Given the description of an element on the screen output the (x, y) to click on. 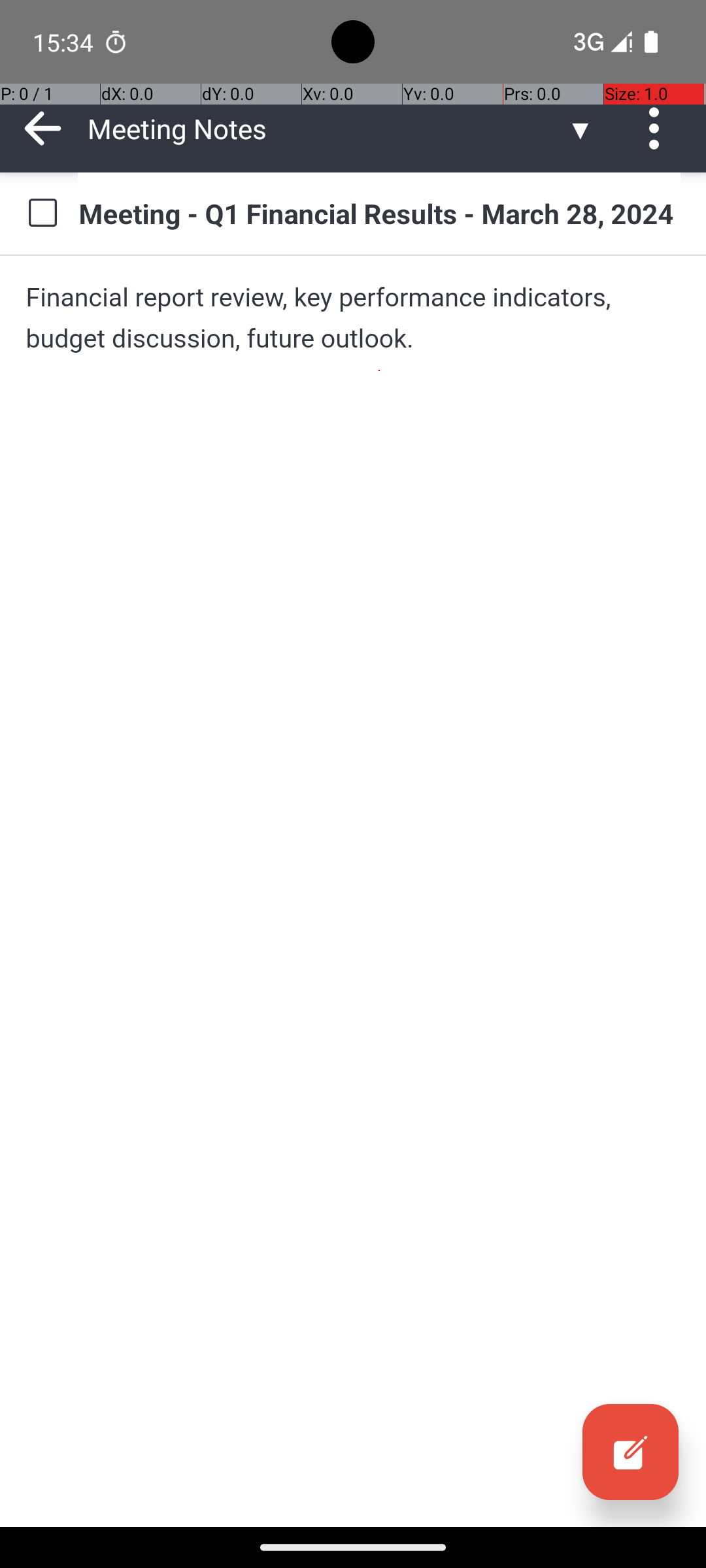
Board Meeting - Q1 Financial Results - March 28, 2024 Element type: android.widget.EditText (378, 213)
Financial report review, key performance indicators, budget discussion, future outlook. Element type: android.widget.TextView (352, 317)
